Given the description of an element on the screen output the (x, y) to click on. 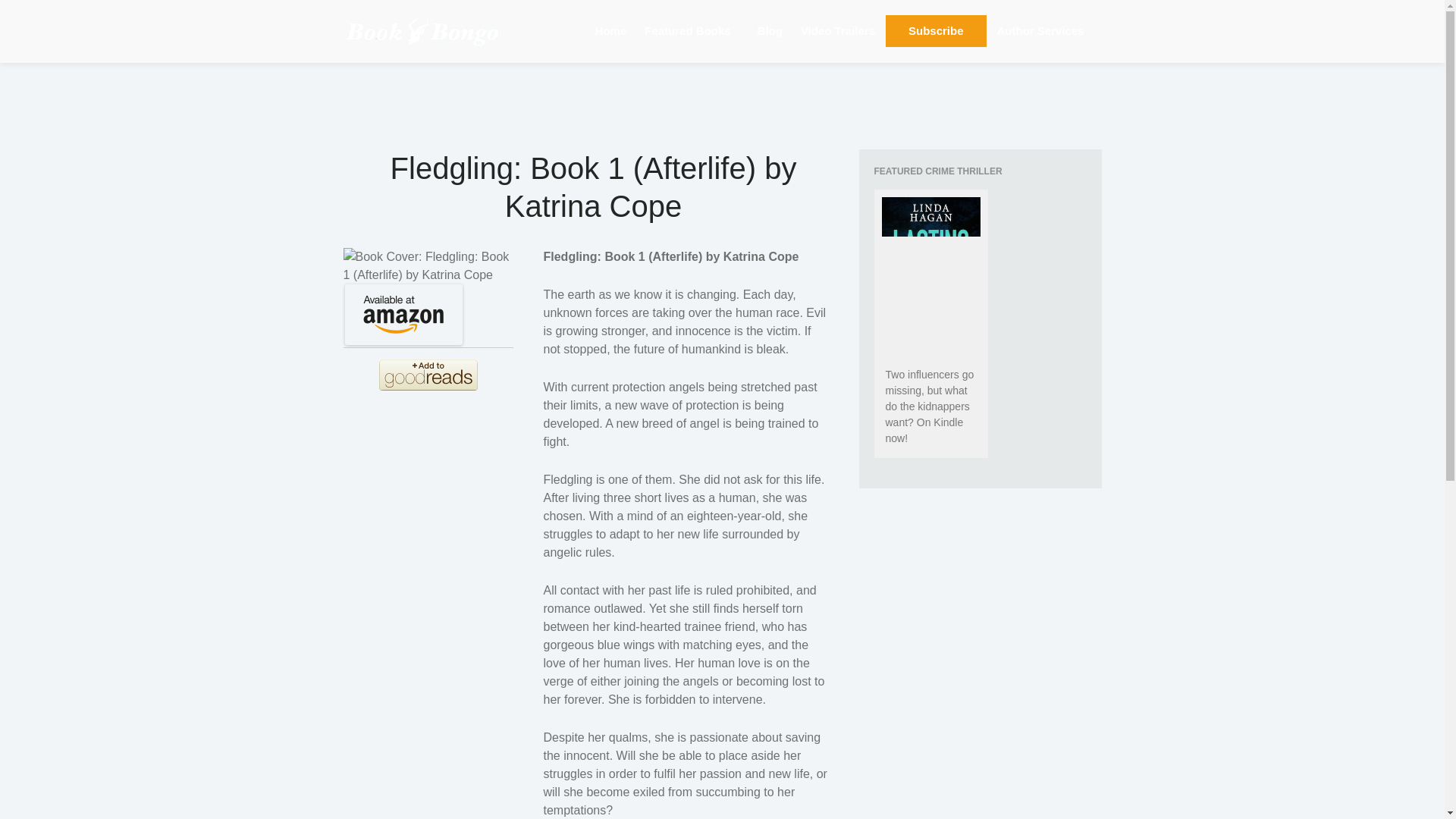
Get the latest promotions in the weekly BookBongo mailout (936, 30)
Promote your book through BookBongo, for free! (1045, 31)
Lasting Influence by Linda Hagan (929, 275)
